Given the description of an element on the screen output the (x, y) to click on. 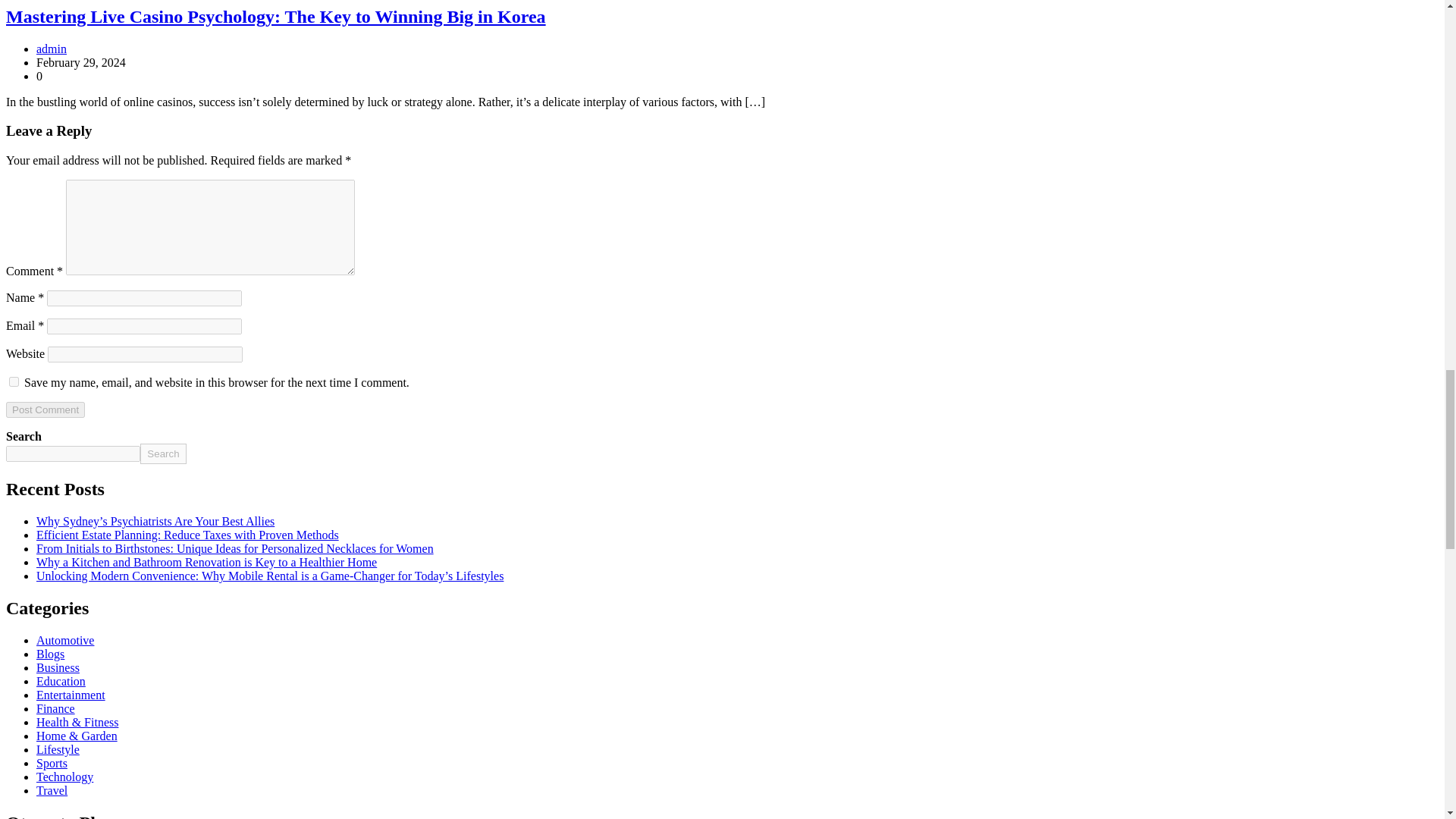
Post Comment (44, 409)
admin (51, 48)
yes (13, 381)
